Given the description of an element on the screen output the (x, y) to click on. 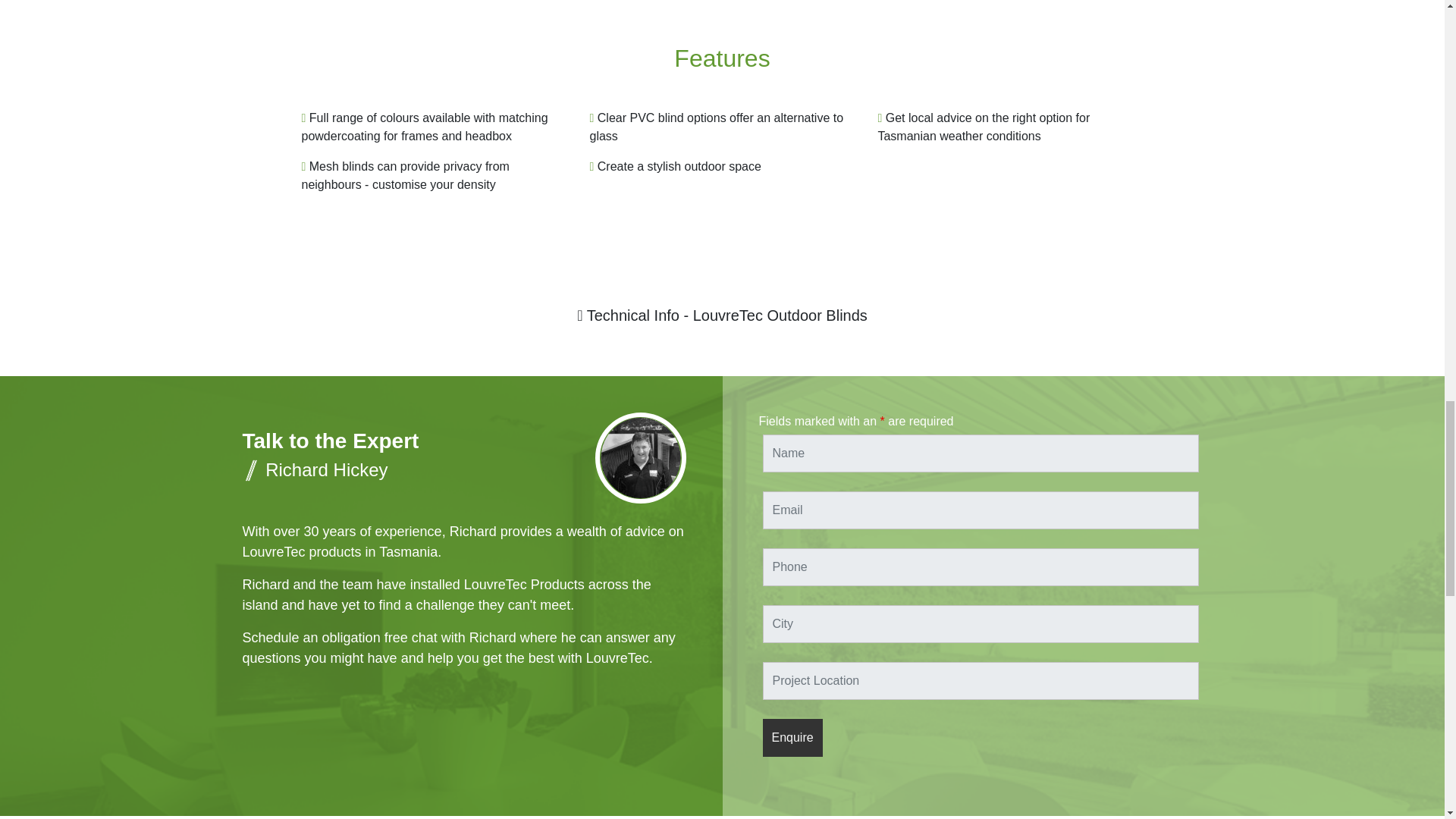
Enquire (792, 737)
